Given the description of an element on the screen output the (x, y) to click on. 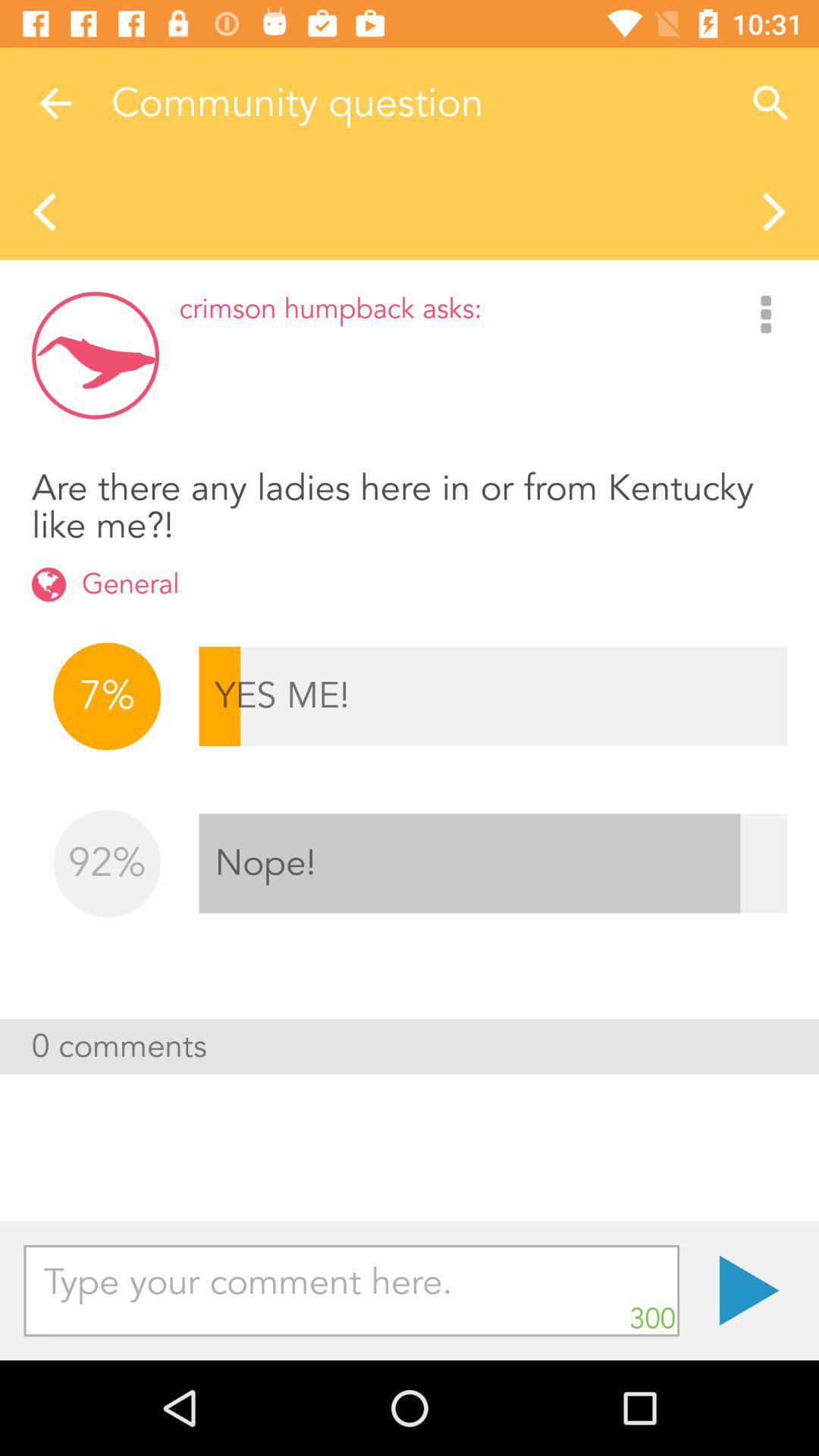
open . item (749, 1290)
